Given the description of an element on the screen output the (x, y) to click on. 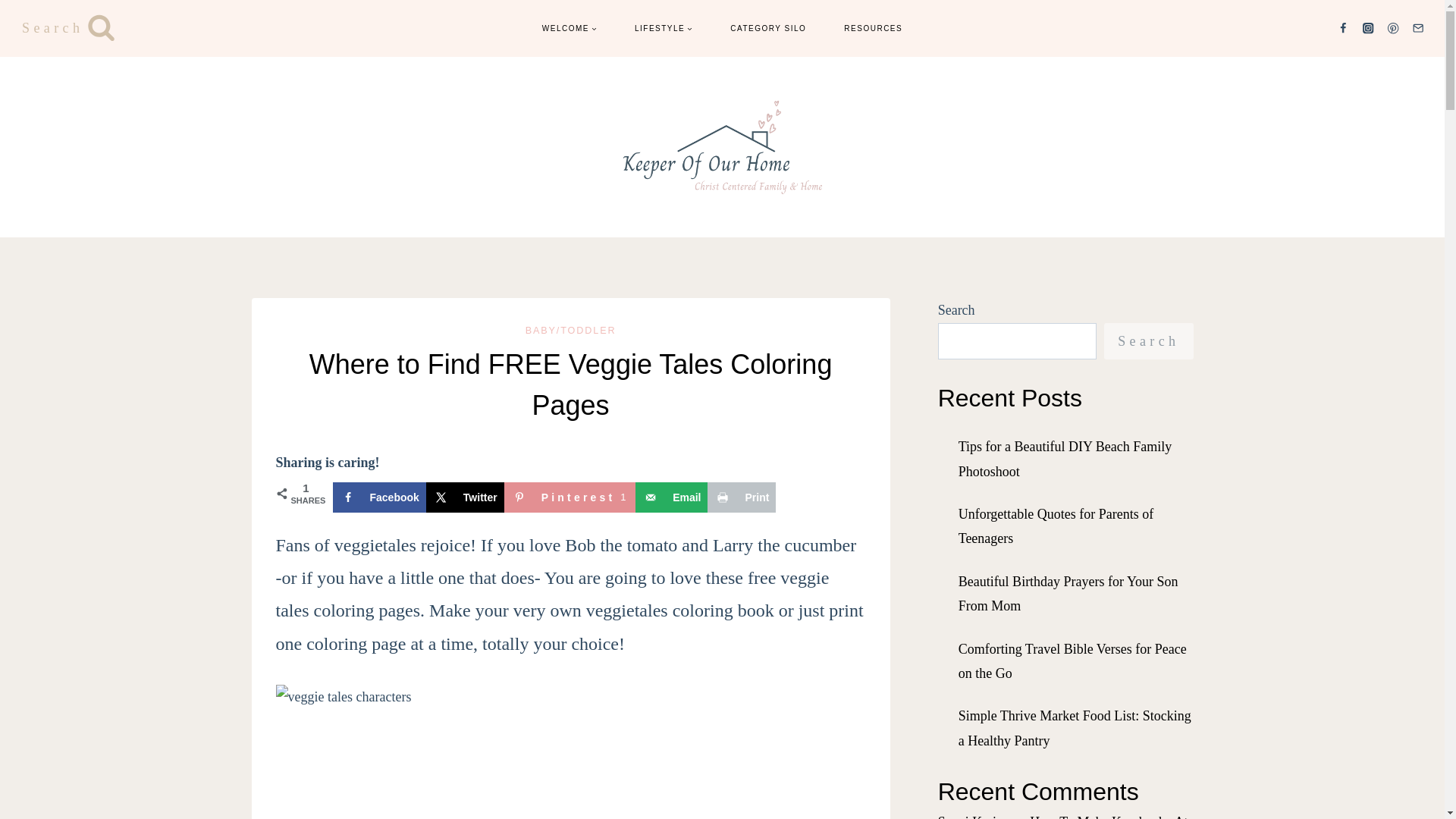
Facebook (378, 497)
Share on Facebook (378, 497)
Print this webpage (741, 497)
Save to Pinterest (568, 497)
RESOURCES (873, 28)
LIFESTYLE (663, 28)
Share on X (464, 497)
Search (68, 28)
Send over email (670, 497)
WELCOME (568, 28)
Twitter (464, 497)
CATEGORY SILO (768, 28)
Print (741, 497)
Email (568, 497)
